Given the description of an element on the screen output the (x, y) to click on. 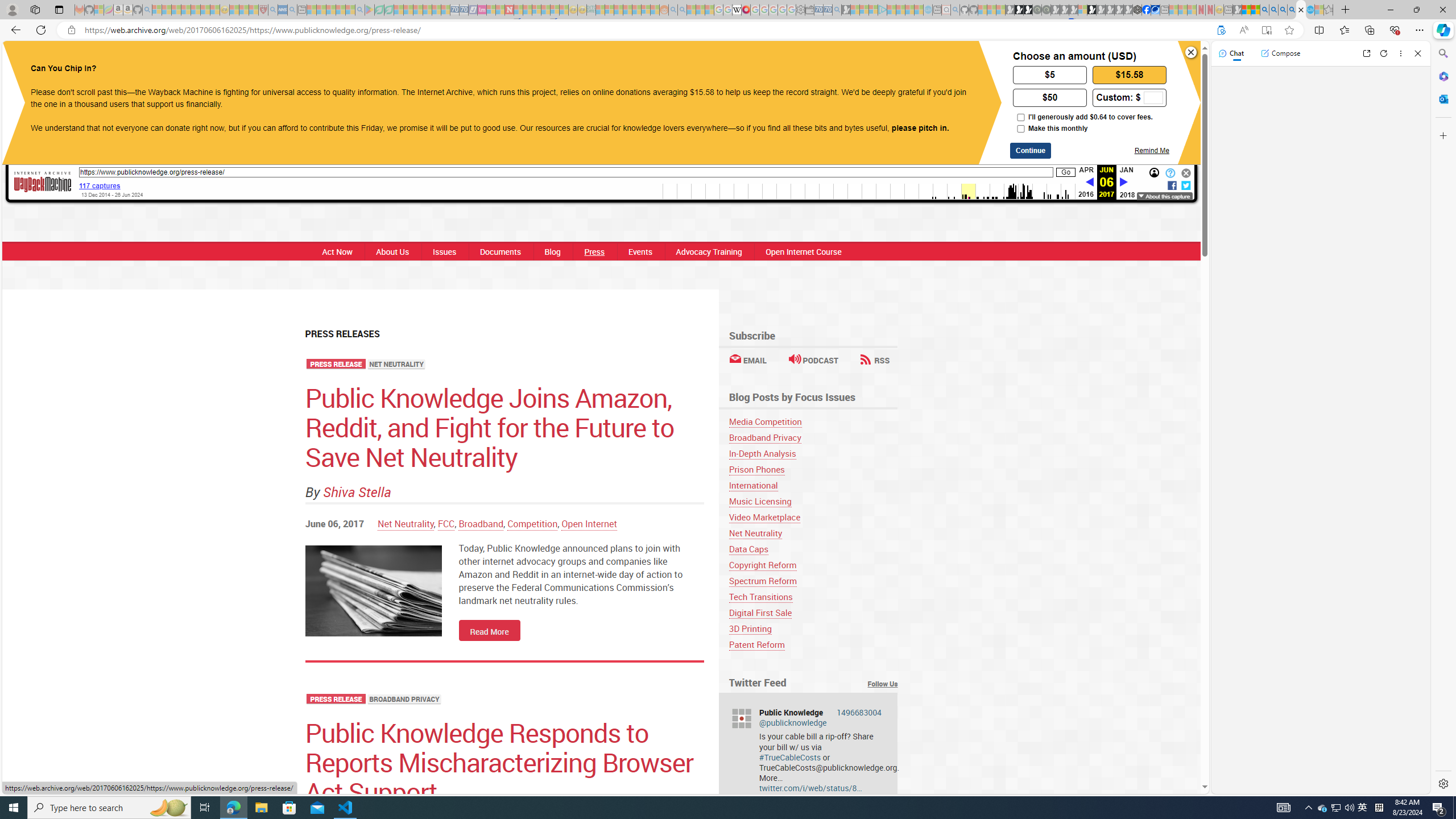
Copyright Reform (813, 564)
Advocacy Training (708, 251)
Competition (531, 523)
FACEBOOK (647, 60)
Media Competition (813, 421)
Public Knowledge @publicknowledge (820, 717)
Nordace | Facebook (1146, 9)
Events (639, 251)
#TrueCableCosts (789, 756)
TWITTER (692, 60)
